Given the description of an element on the screen output the (x, y) to click on. 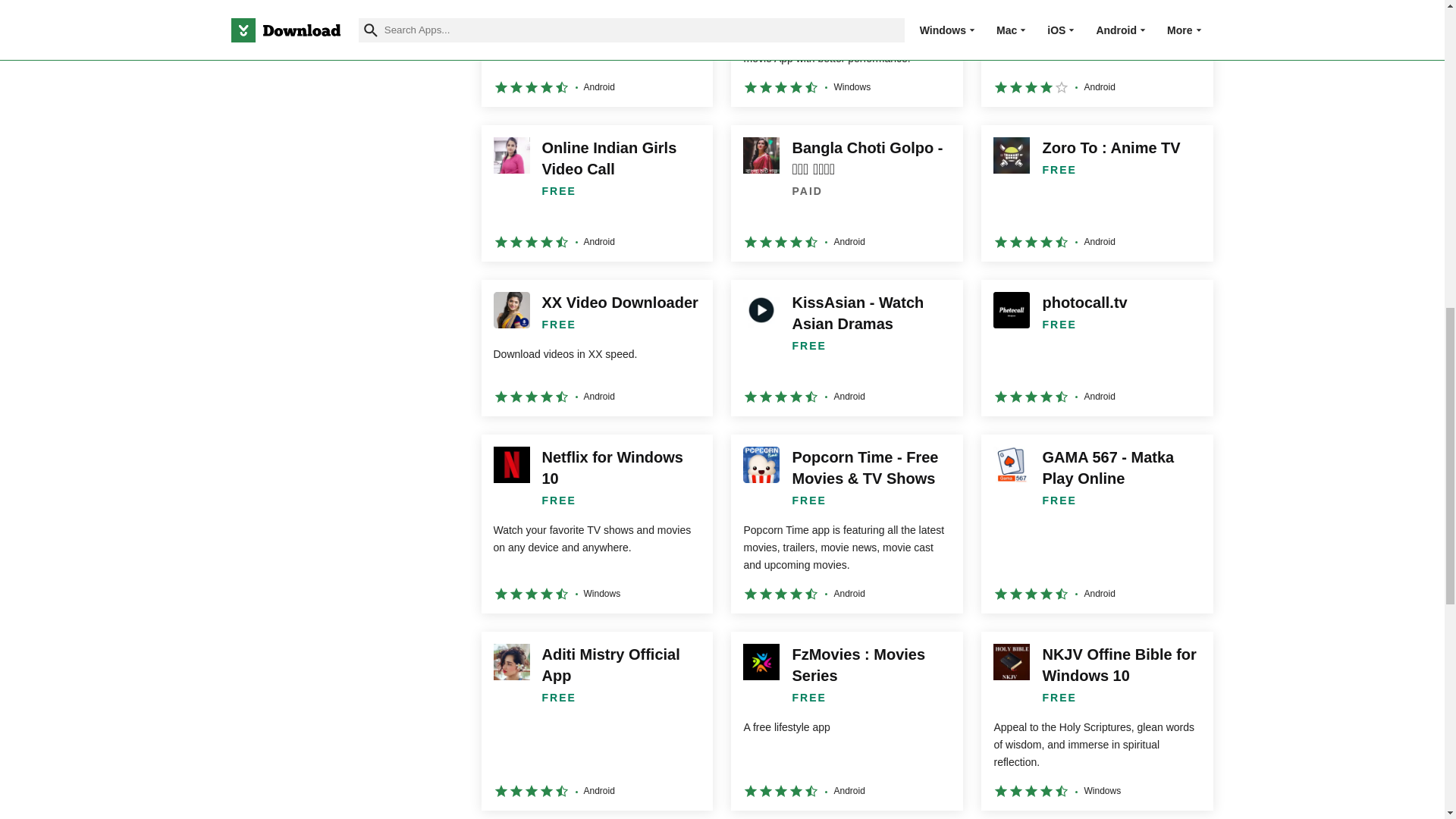
Online Indian Girls Video Call (596, 193)
photocall.tv (1096, 348)
DazcFutbolTv (1096, 53)
XX Video Downloader (596, 348)
TamilGun - Watch Tamil Movie (596, 53)
Zoro To : Anime TV (1096, 193)
Netflix for Windows 10 (596, 523)
Movie Box Pro for Windows 10 (846, 53)
KissAsian - Watch Asian Dramas (846, 348)
